Given the description of an element on the screen output the (x, y) to click on. 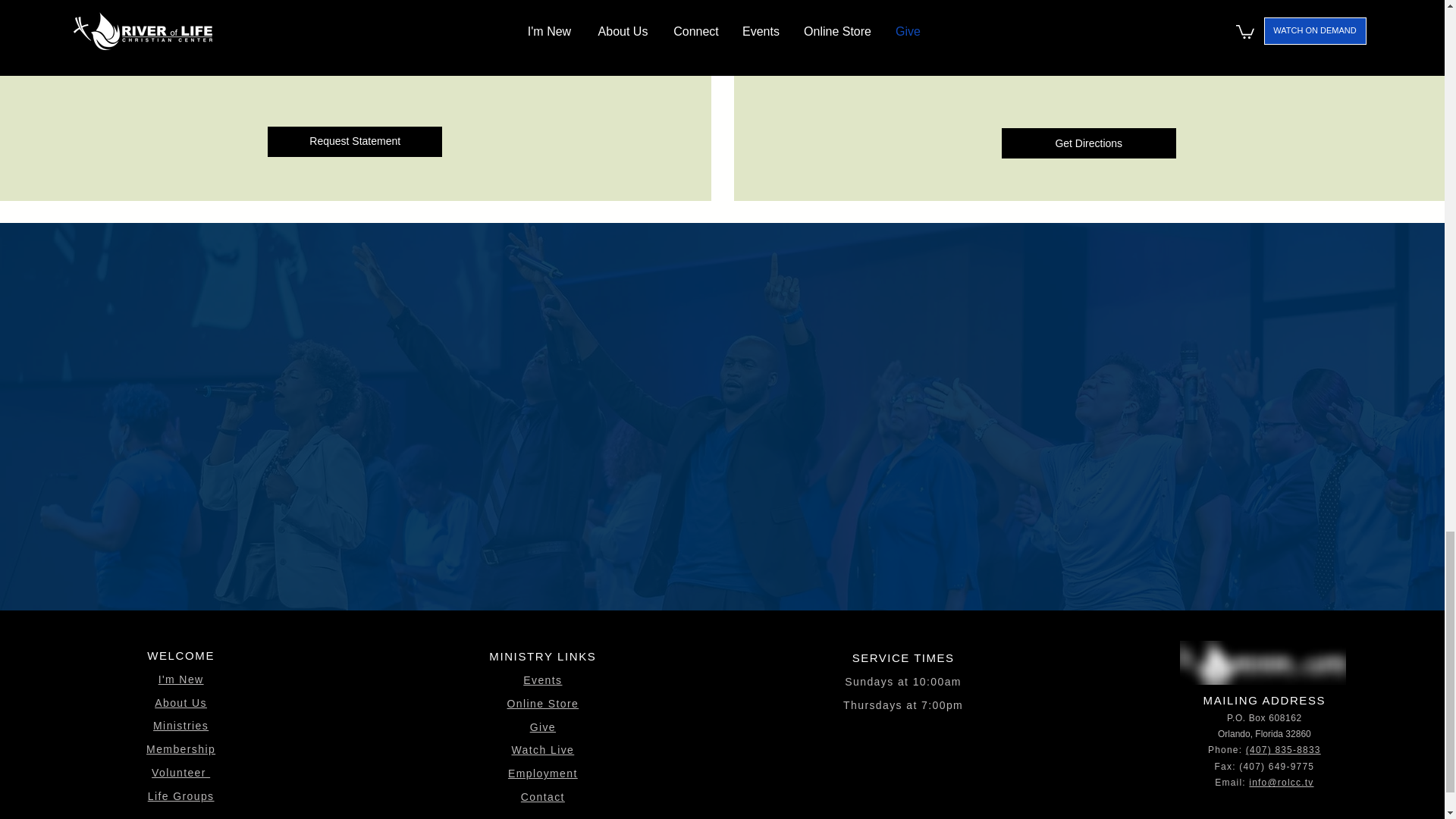
I'm New (180, 679)
Ministries (180, 725)
Events (542, 680)
Request Statement (354, 141)
Watch Live (542, 749)
About Us (180, 702)
Contact (542, 797)
Volunteer  (180, 772)
Life Groups (181, 796)
Online Store (542, 703)
